Given the description of an element on the screen output the (x, y) to click on. 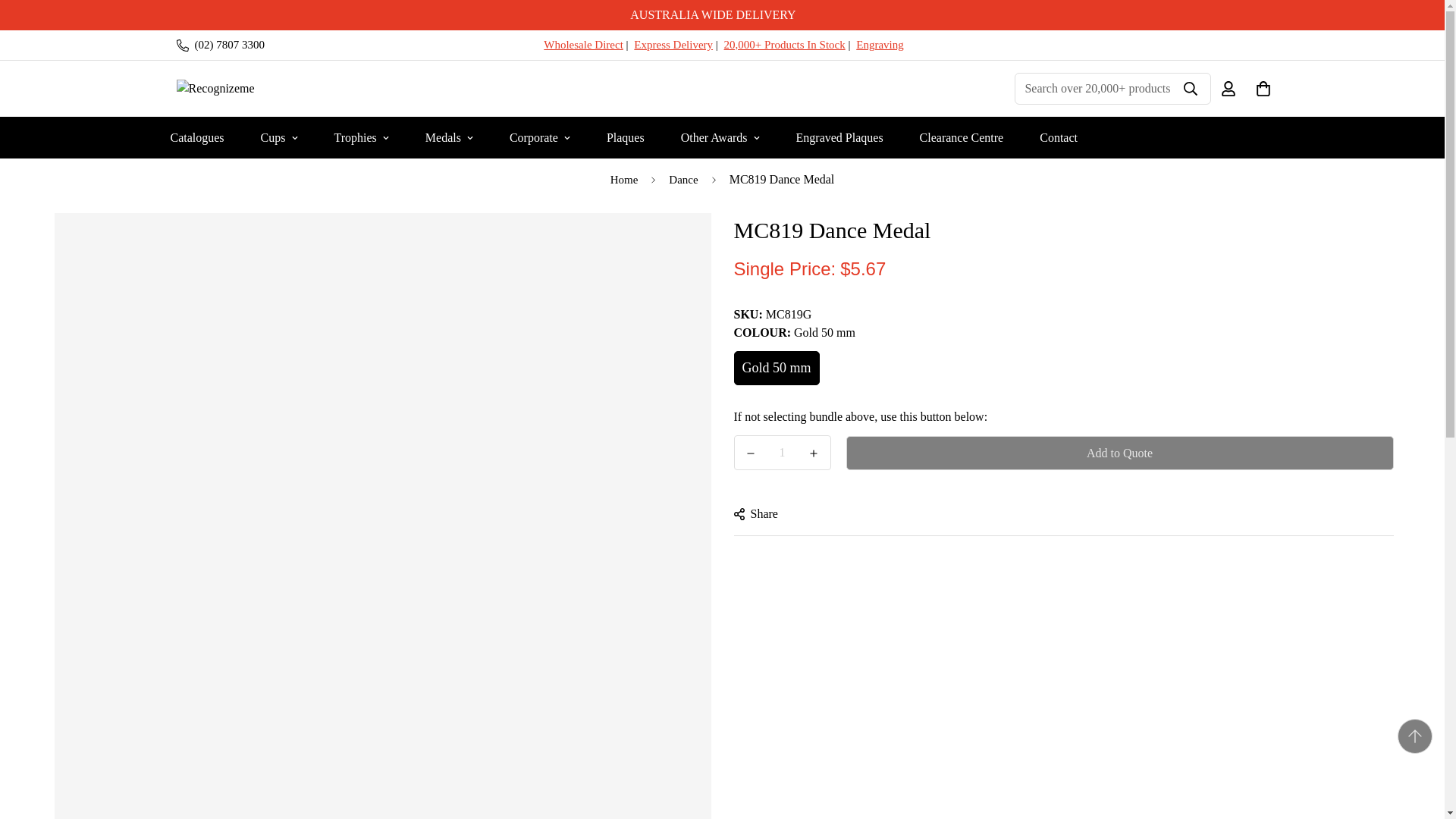
Engraving (879, 44)
Recognizeme (272, 88)
Wholesale Direct (583, 44)
AUSTRALIA WIDE DELIVERY (722, 15)
Express Delivery (673, 44)
Trophies (360, 137)
Catalogues (196, 137)
Back to the home page (624, 179)
Cups (279, 137)
1 (782, 452)
